Given the description of an element on the screen output the (x, y) to click on. 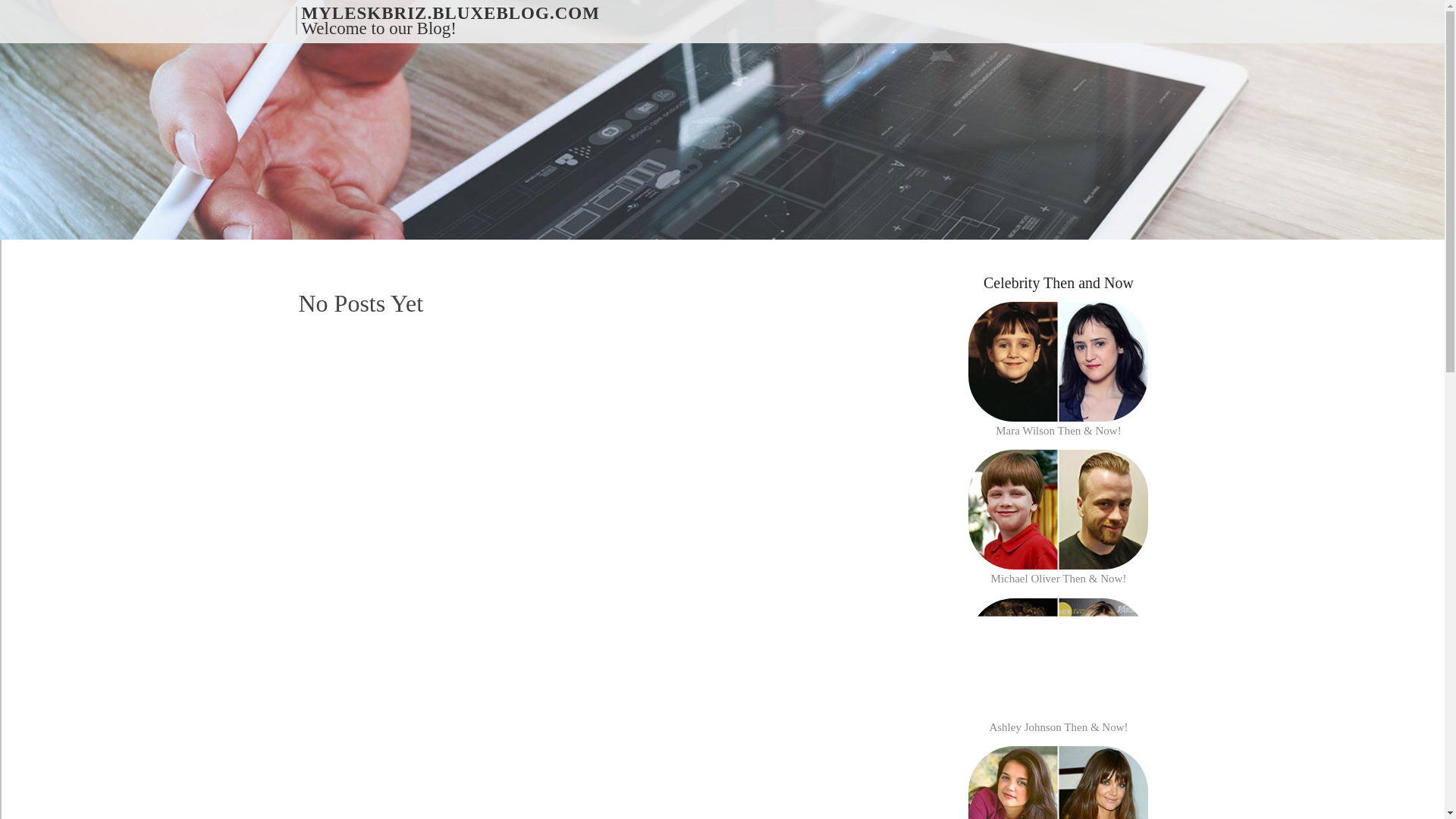
Skip to content (34, 10)
MYLESKBRIZ.BLUXEBLOG.COM (450, 12)
